Given the description of an element on the screen output the (x, y) to click on. 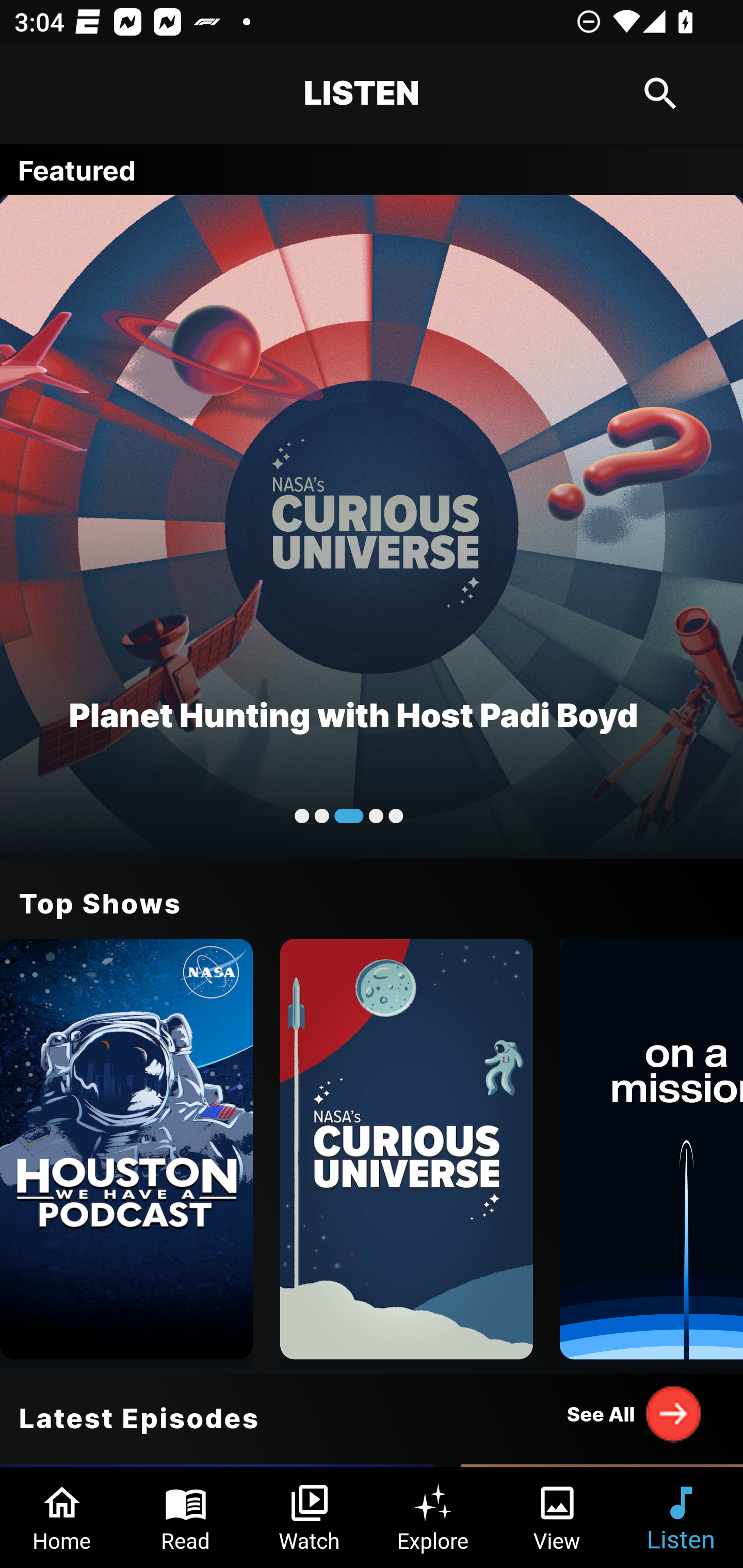
Planet Hunting with Host Padi Boyd (371, 526)
See All (634, 1413)
Home
Tab 1 of 6 (62, 1517)
Read
Tab 2 of 6 (185, 1517)
Watch
Tab 3 of 6 (309, 1517)
Explore
Tab 4 of 6 (433, 1517)
View
Tab 5 of 6 (556, 1517)
Listen
Tab 6 of 6 (680, 1517)
